Given the description of an element on the screen output the (x, y) to click on. 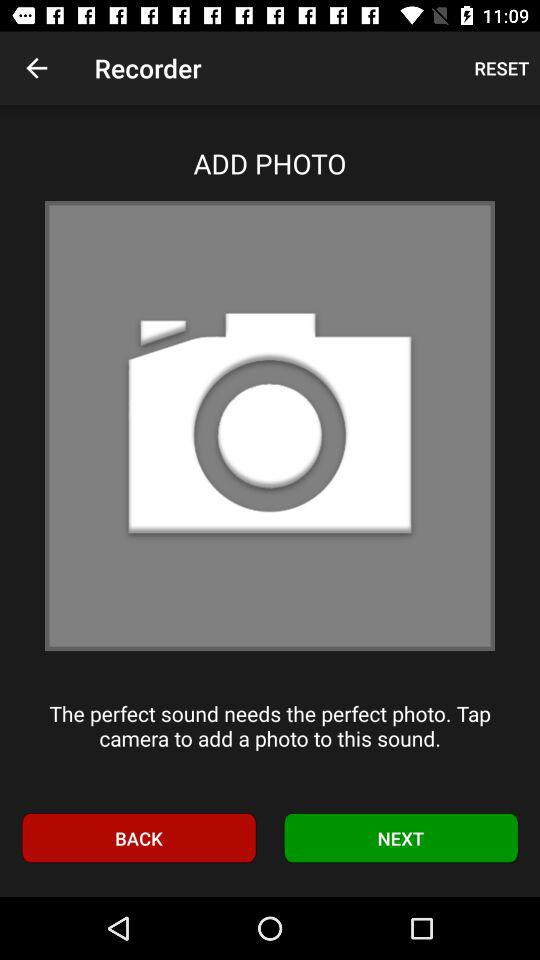
select icon at the bottom left corner (138, 838)
